Given the description of an element on the screen output the (x, y) to click on. 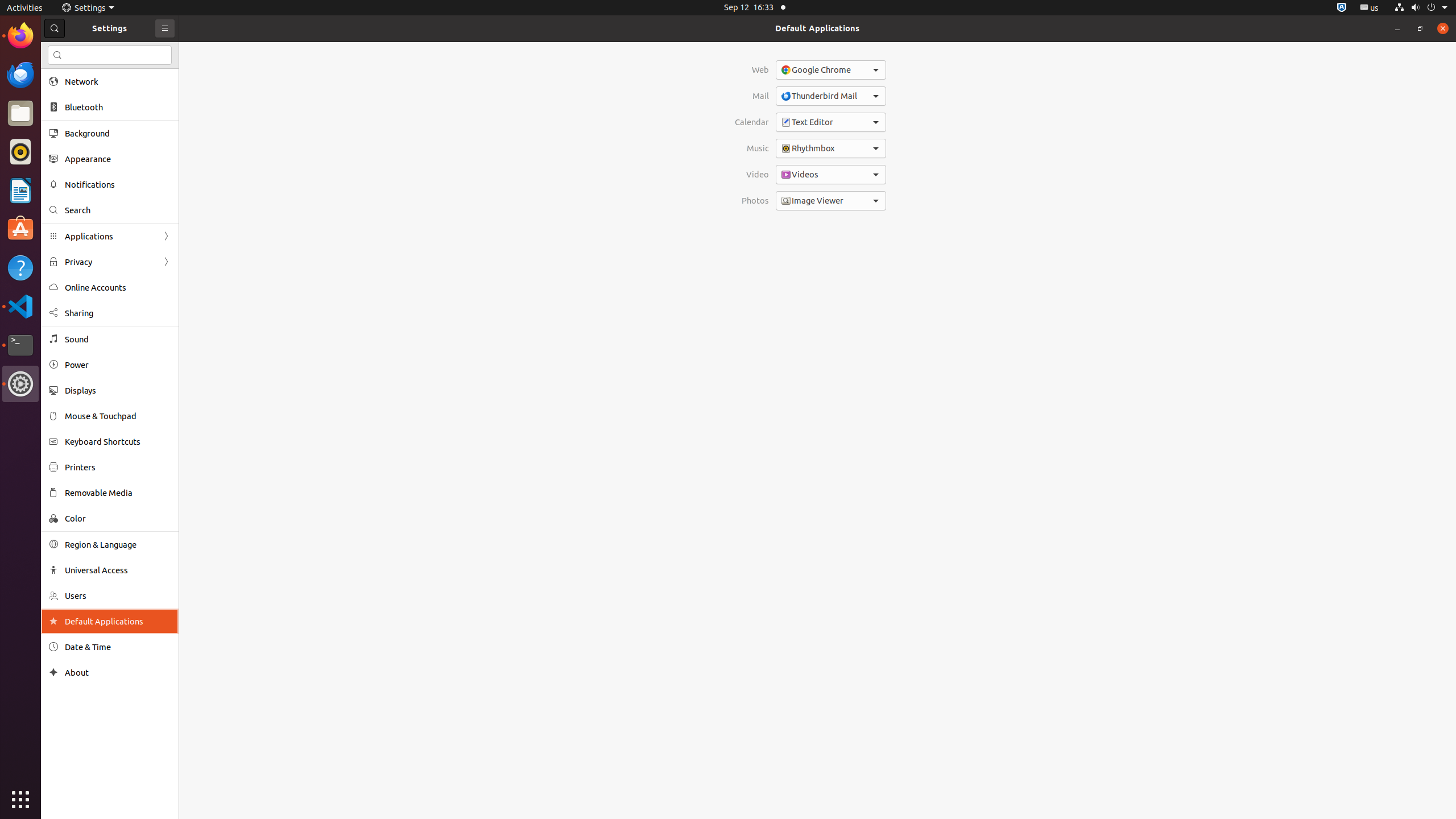
Restore Element type: push-button (1419, 27)
Web Element type: label (751, 69)
Music Element type: label (751, 148)
Photos Element type: label (751, 200)
